Given the description of an element on the screen output the (x, y) to click on. 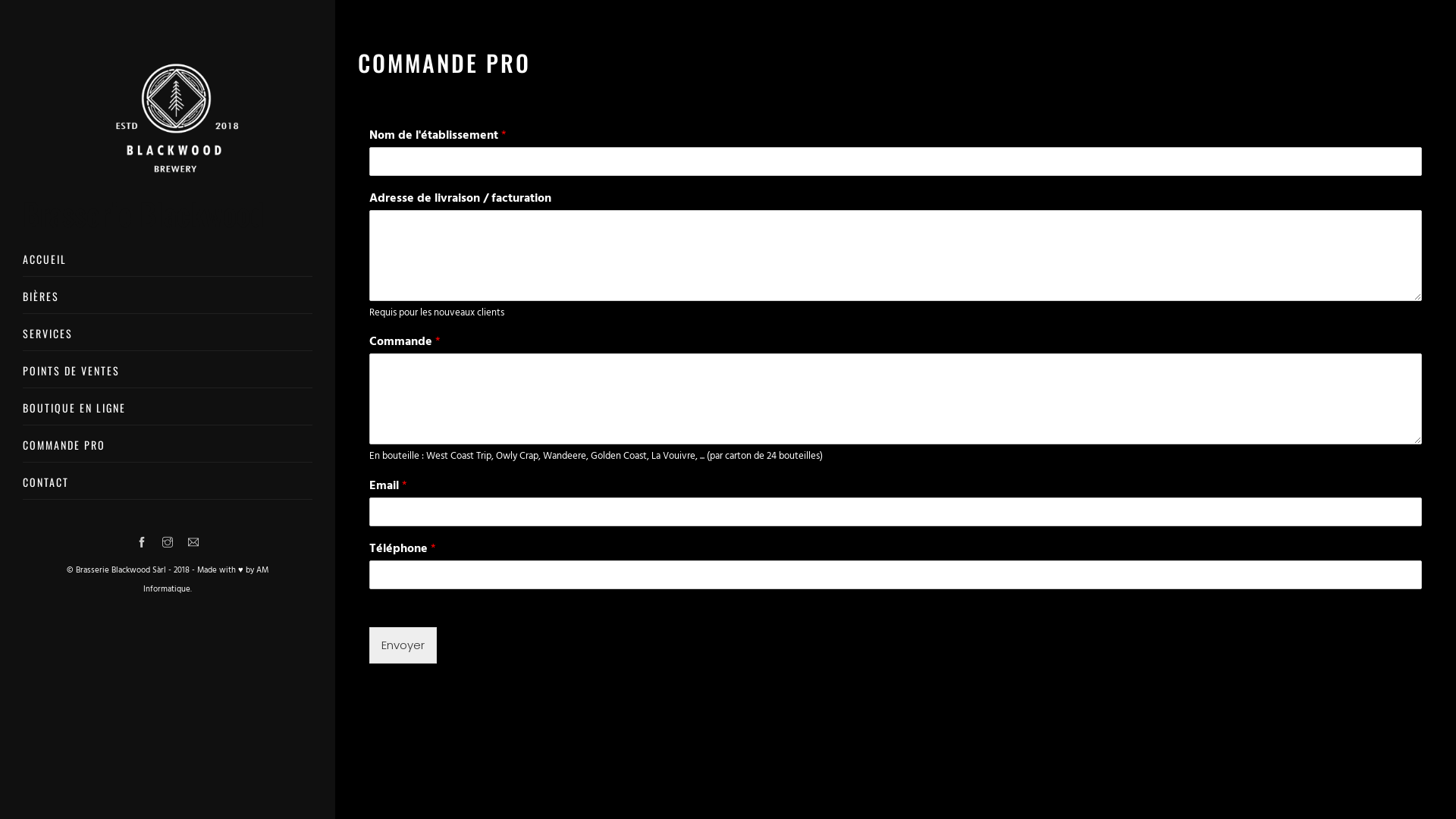
Envoyer Element type: text (402, 645)
ACCUEIL Element type: text (167, 263)
SERVICES Element type: text (167, 338)
Brasserie Blackwood Element type: text (167, 162)
POINTS DE VENTES Element type: text (167, 375)
BOUTIQUE EN LIGNE Element type: text (167, 412)
CONTACT Element type: text (167, 486)
COMMANDE PRO Element type: text (167, 449)
